Given the description of an element on the screen output the (x, y) to click on. 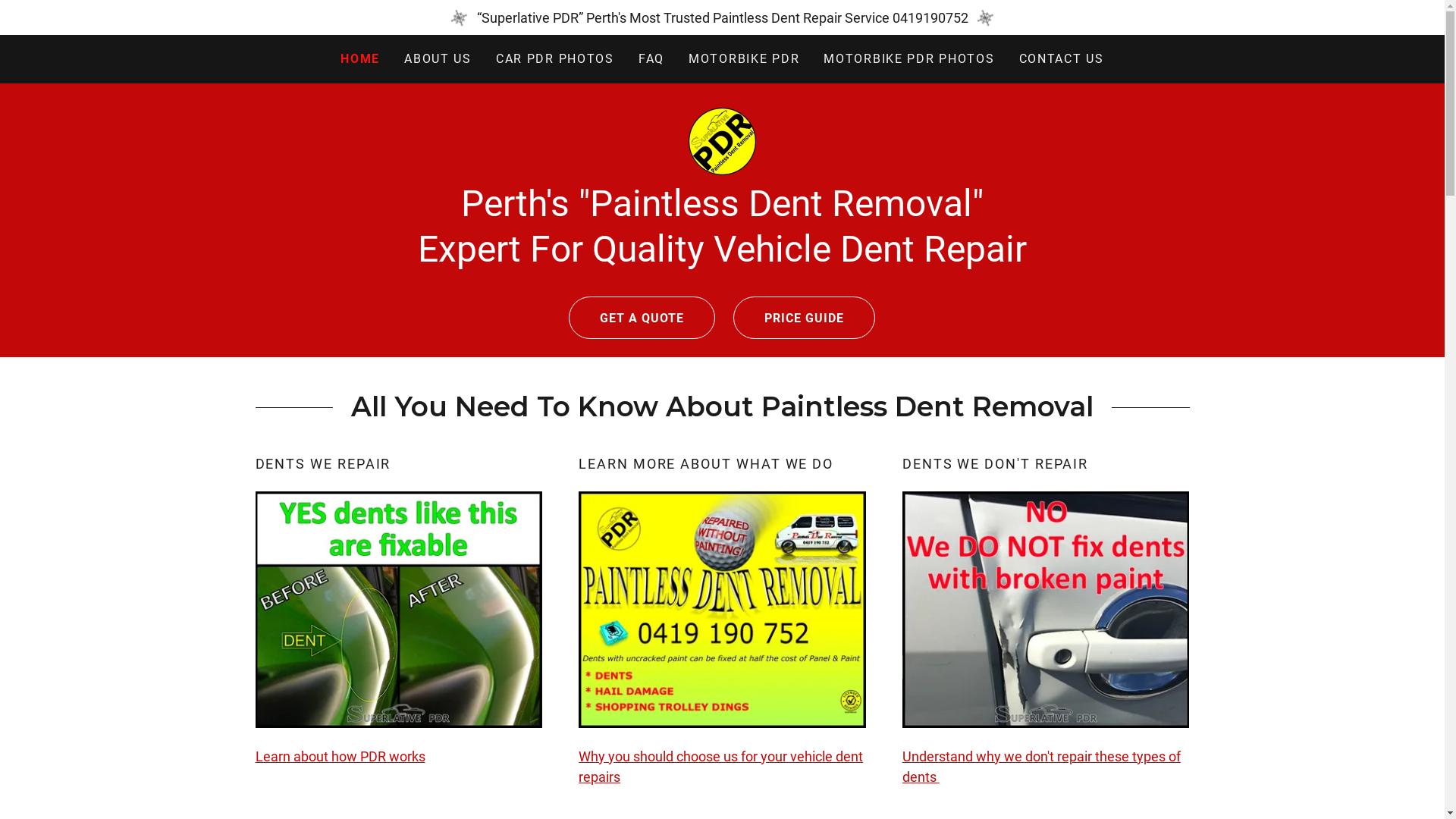
CONTACT US Element type: text (1061, 58)
HOME Element type: text (359, 59)
PRICE GUIDE Element type: text (804, 317)
Learn about how PDR works Element type: text (339, 756)
FAQ Element type: text (650, 58)
Why you should choose us for your vehicle dent repairs Element type: text (720, 766)
Understand why we don't repair these types of dents  Element type: text (1041, 766)
MOTORBIKE PDR Element type: text (743, 58)
MOTORBIKE PDR PHOTOS Element type: text (908, 58)
ABOUT US Element type: text (437, 58)
CAR PDR PHOTOS Element type: text (554, 58)
GET A QUOTE Element type: text (641, 317)
